Given the description of an element on the screen output the (x, y) to click on. 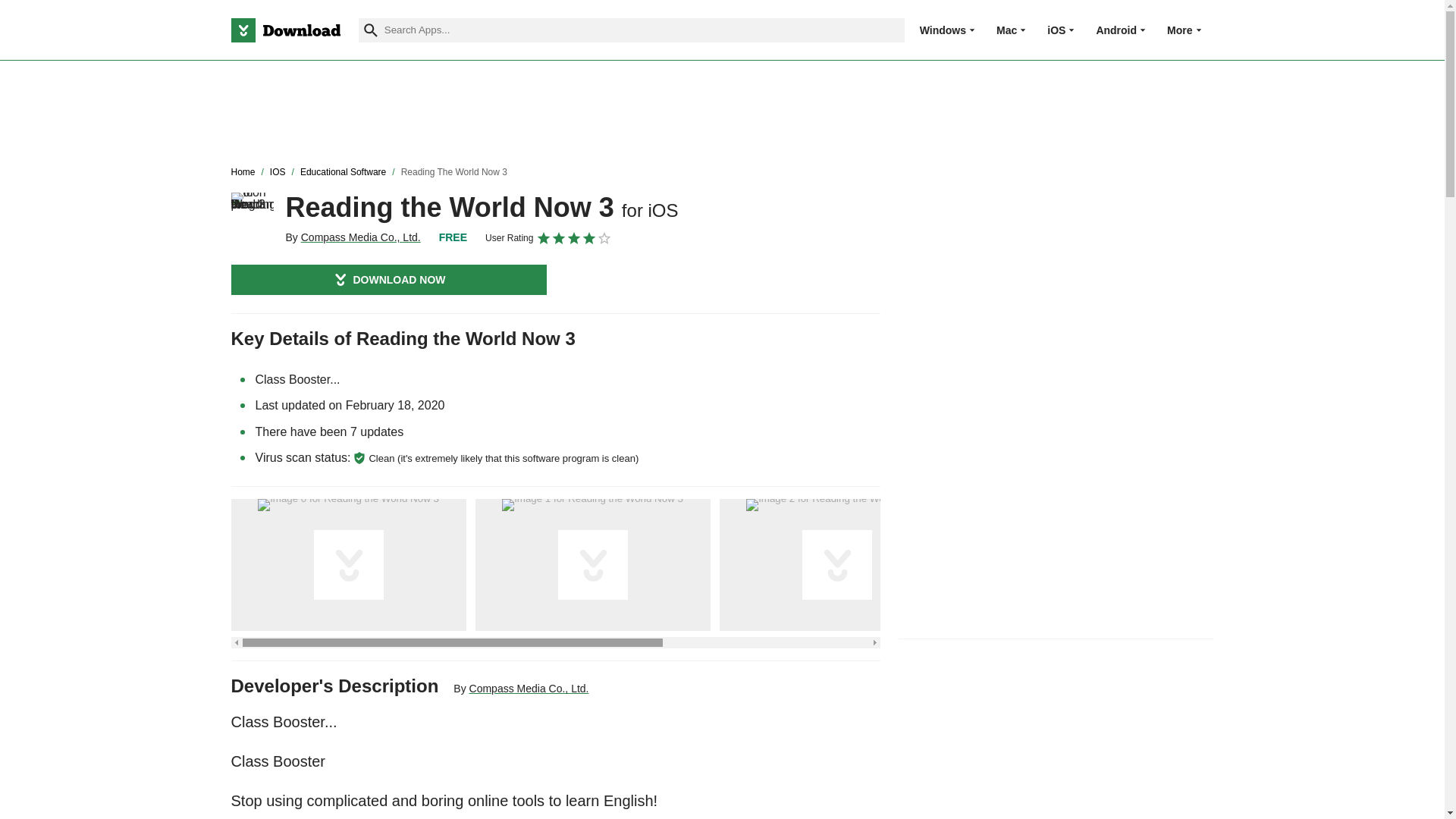
Mac (1005, 29)
Reading the World Now 3 for iOS (251, 213)
Windows (943, 29)
